Given the description of an element on the screen output the (x, y) to click on. 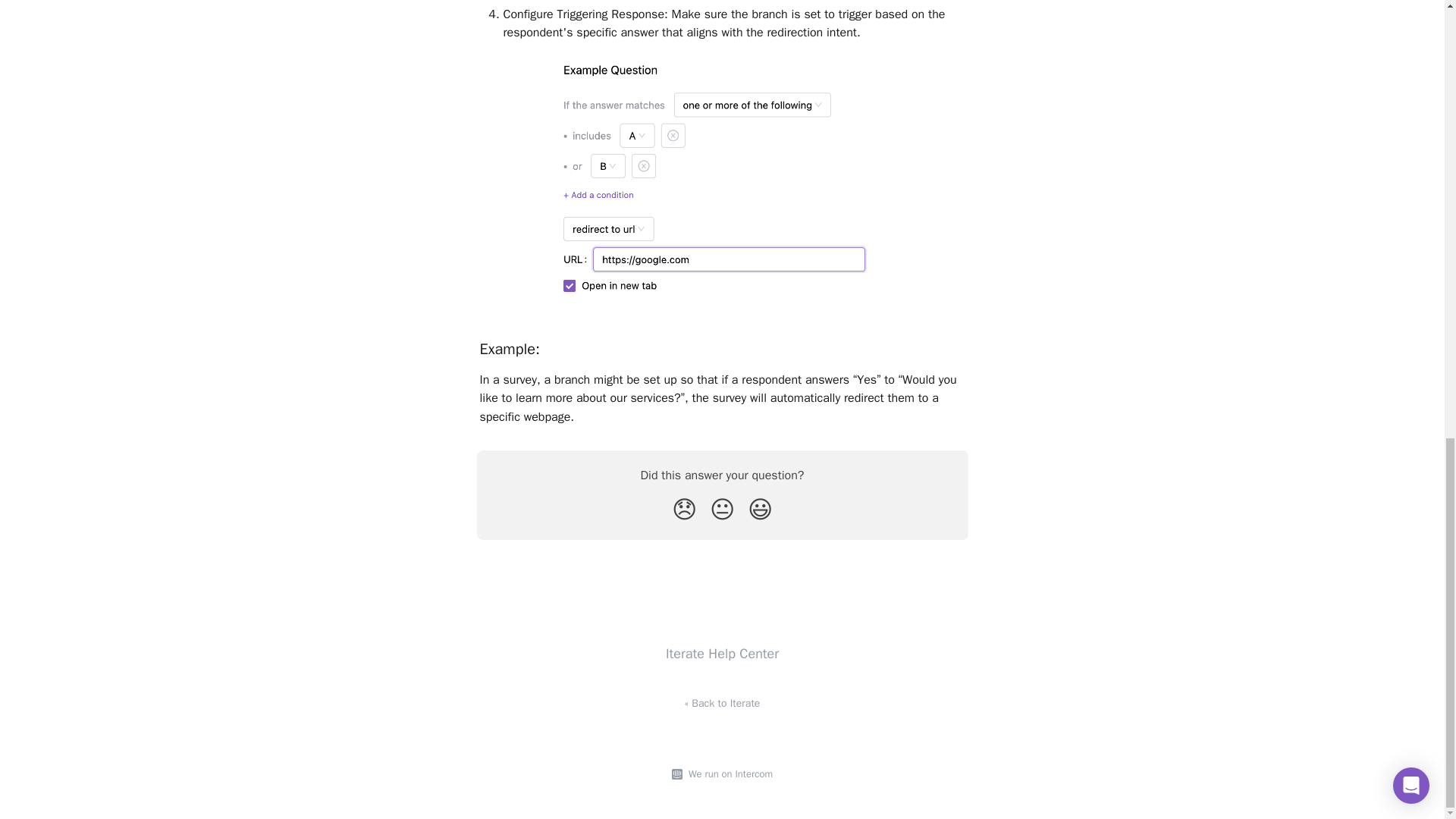
Neutral (722, 509)
We run on Intercom (727, 774)
Smiley (760, 509)
Disappointed (684, 509)
Iterate Help Center (721, 653)
